Given the description of an element on the screen output the (x, y) to click on. 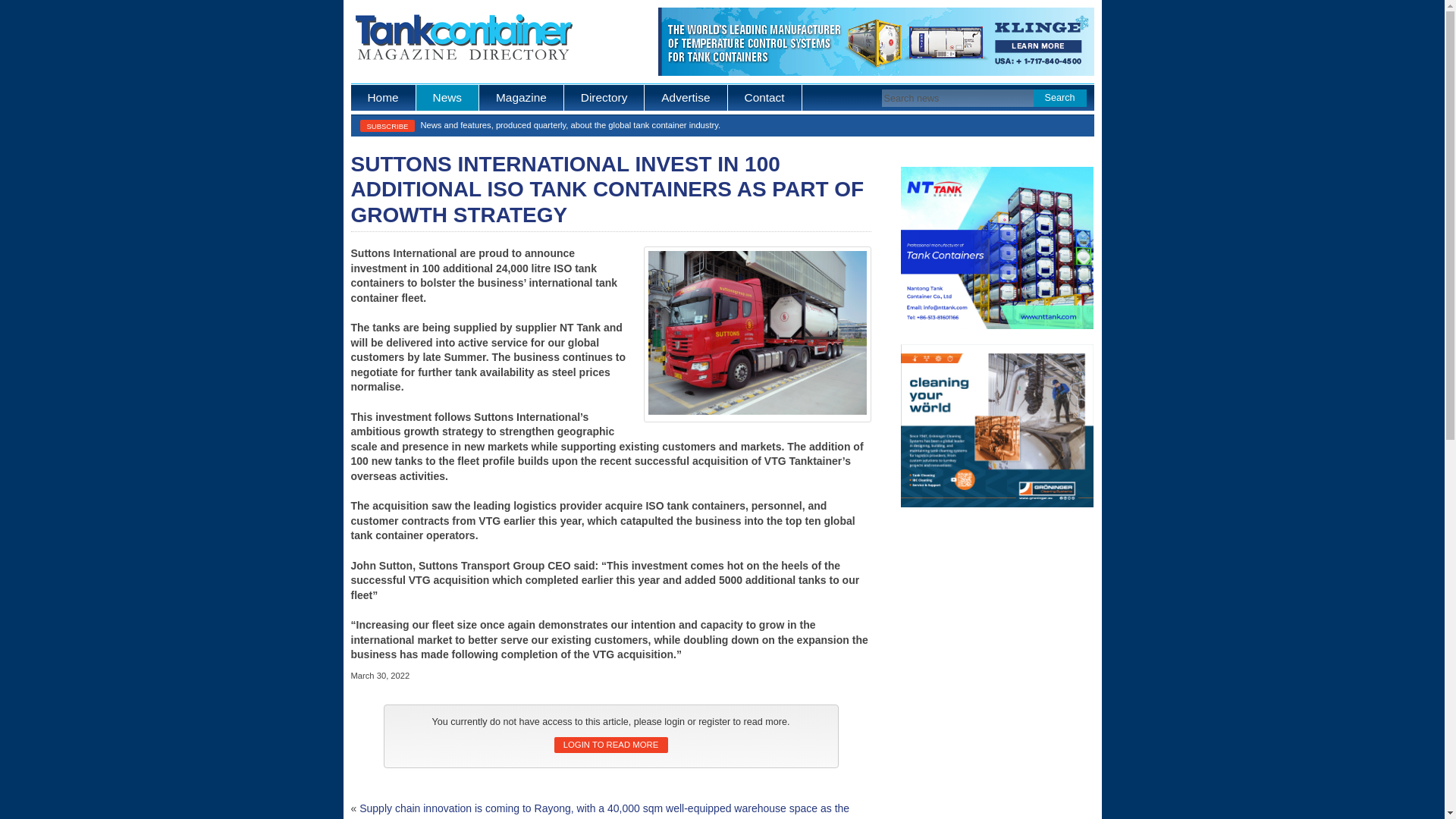
News (447, 97)
Tank Container Directory (604, 97)
Directory (604, 97)
Tankcontainer Media (461, 39)
LOGIN TO READ MORE (609, 744)
Tank Container Magazine (521, 97)
Magazine (521, 97)
Search news (958, 98)
Search news (958, 98)
Advertise (685, 97)
Home (382, 97)
Search (1059, 98)
SUBSCRIBE (386, 125)
Tank Container Media (382, 97)
